Given the description of an element on the screen output the (x, y) to click on. 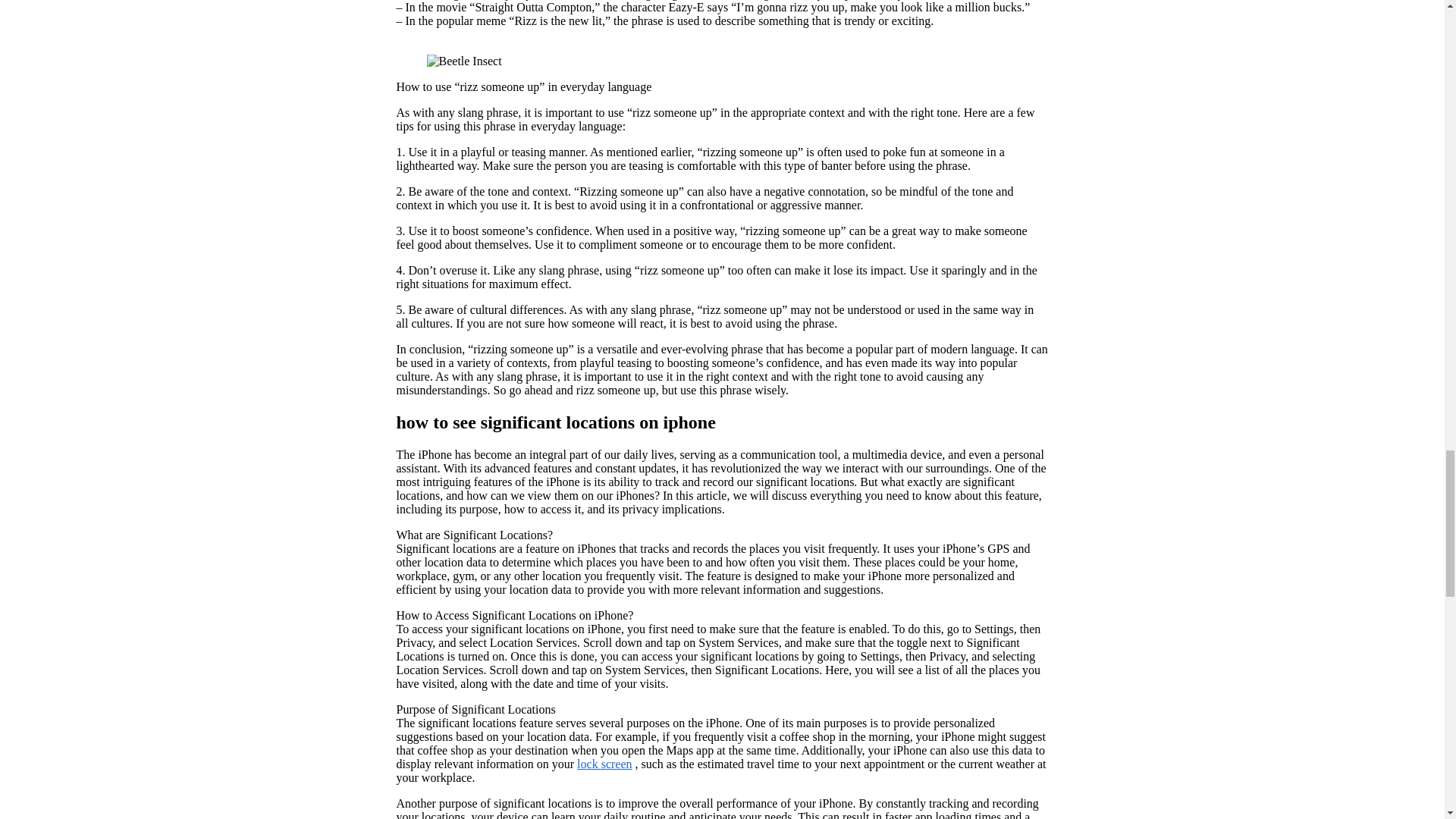
Beetle Insect (463, 60)
lock screen (603, 763)
